Given the description of an element on the screen output the (x, y) to click on. 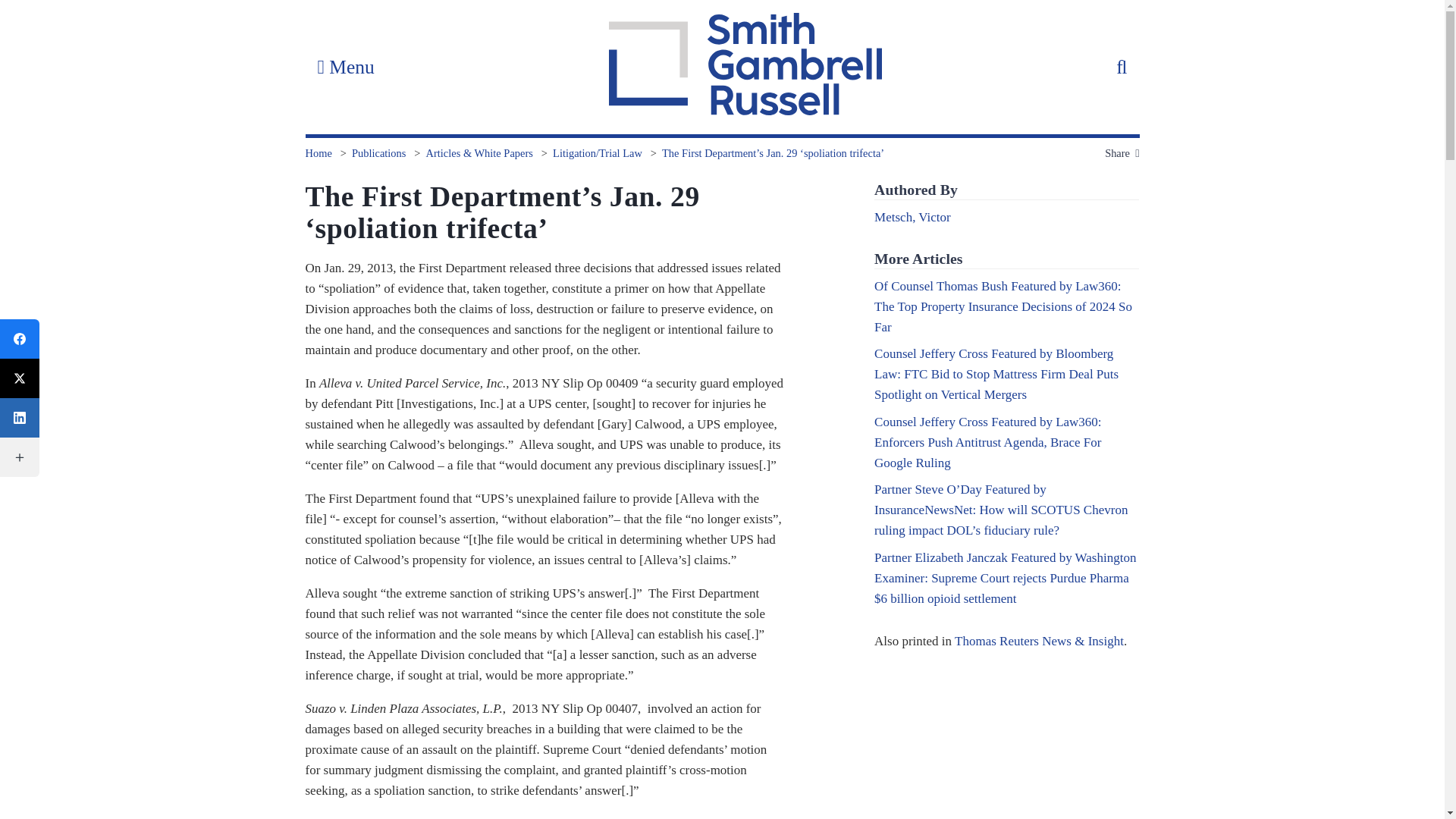
Share (1121, 153)
Publications (379, 152)
Menu (344, 67)
Metsch, Victor (912, 216)
Home (317, 152)
